Given the description of an element on the screen output the (x, y) to click on. 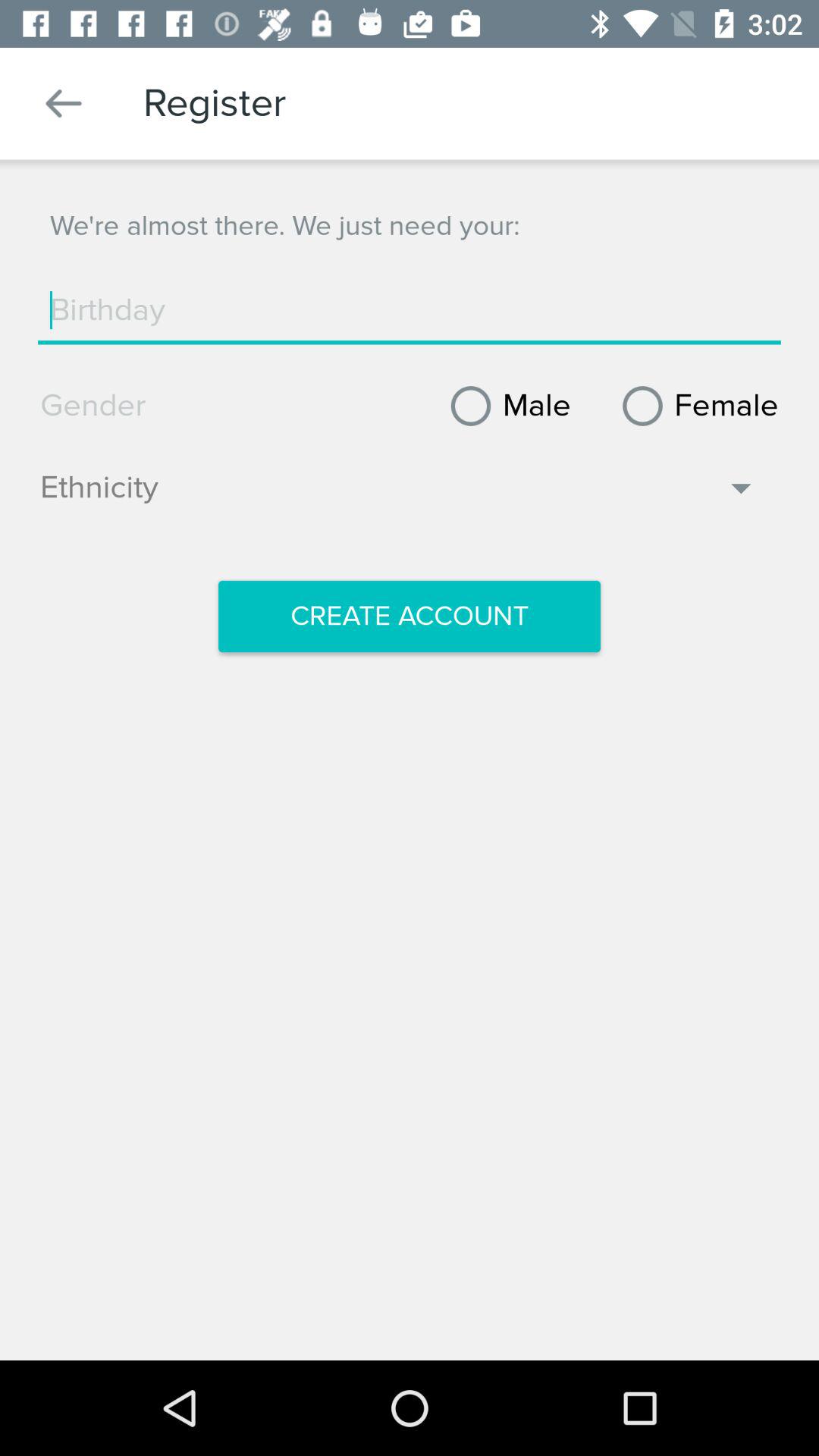
select the item next to the male item (694, 405)
